Given the description of an element on the screen output the (x, y) to click on. 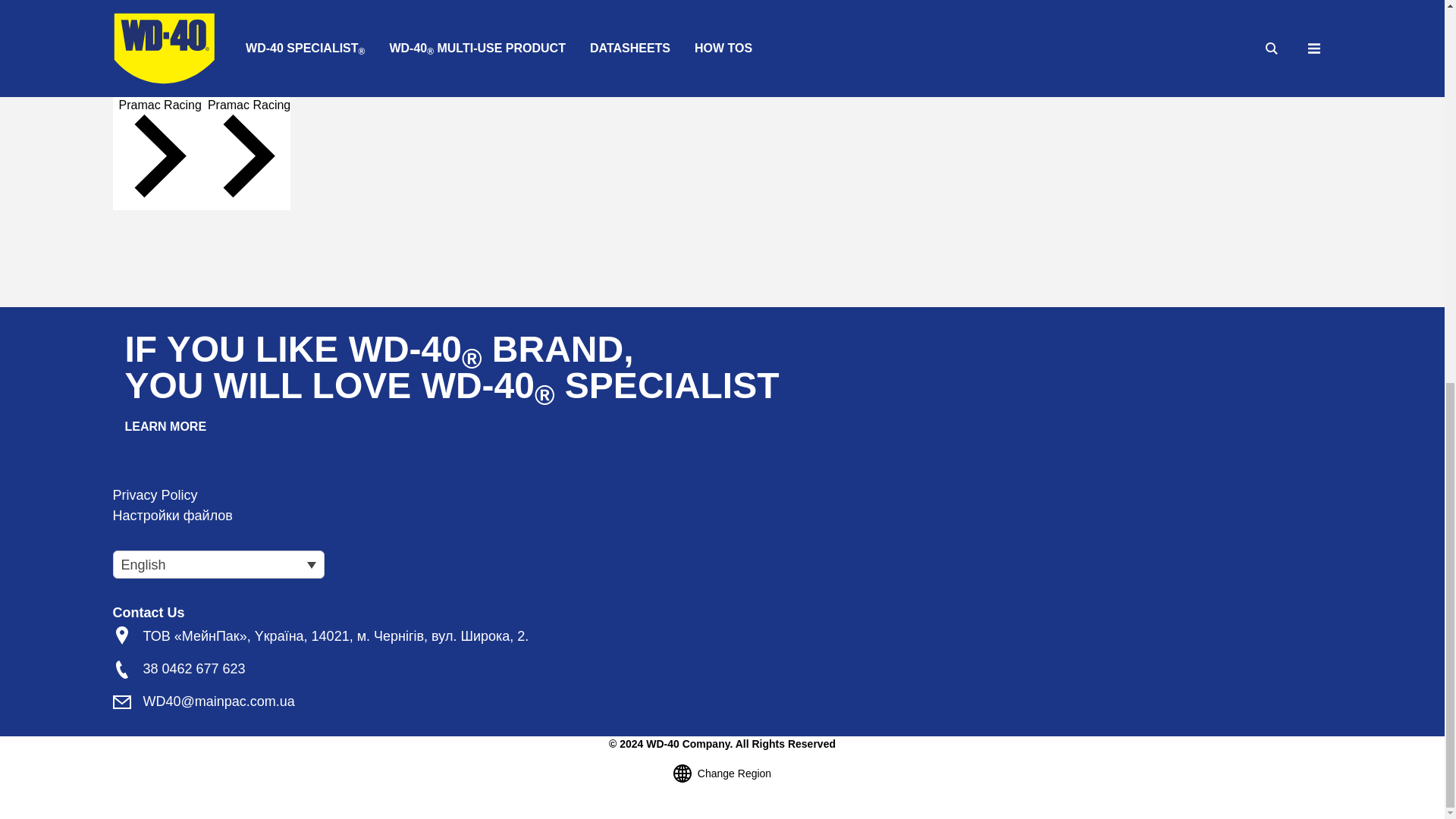
Privacy Policy (154, 494)
English (217, 564)
LEARN MORE (164, 426)
38 0462 677 623 (193, 669)
Change Region (721, 773)
